Given the description of an element on the screen output the (x, y) to click on. 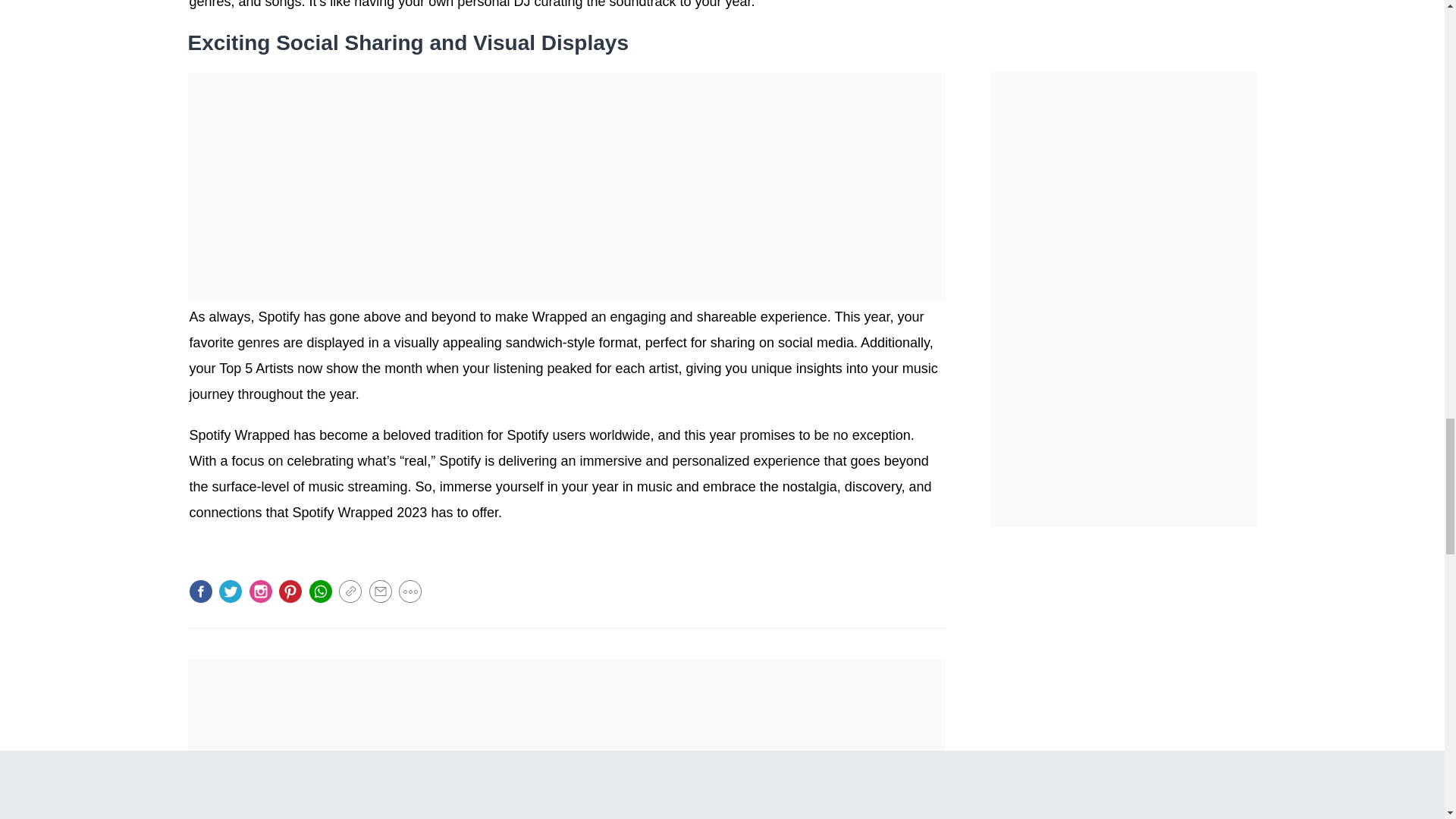
Share on facebook (200, 590)
Share on Instagram (260, 590)
Share on twitter (230, 590)
